Given the description of an element on the screen output the (x, y) to click on. 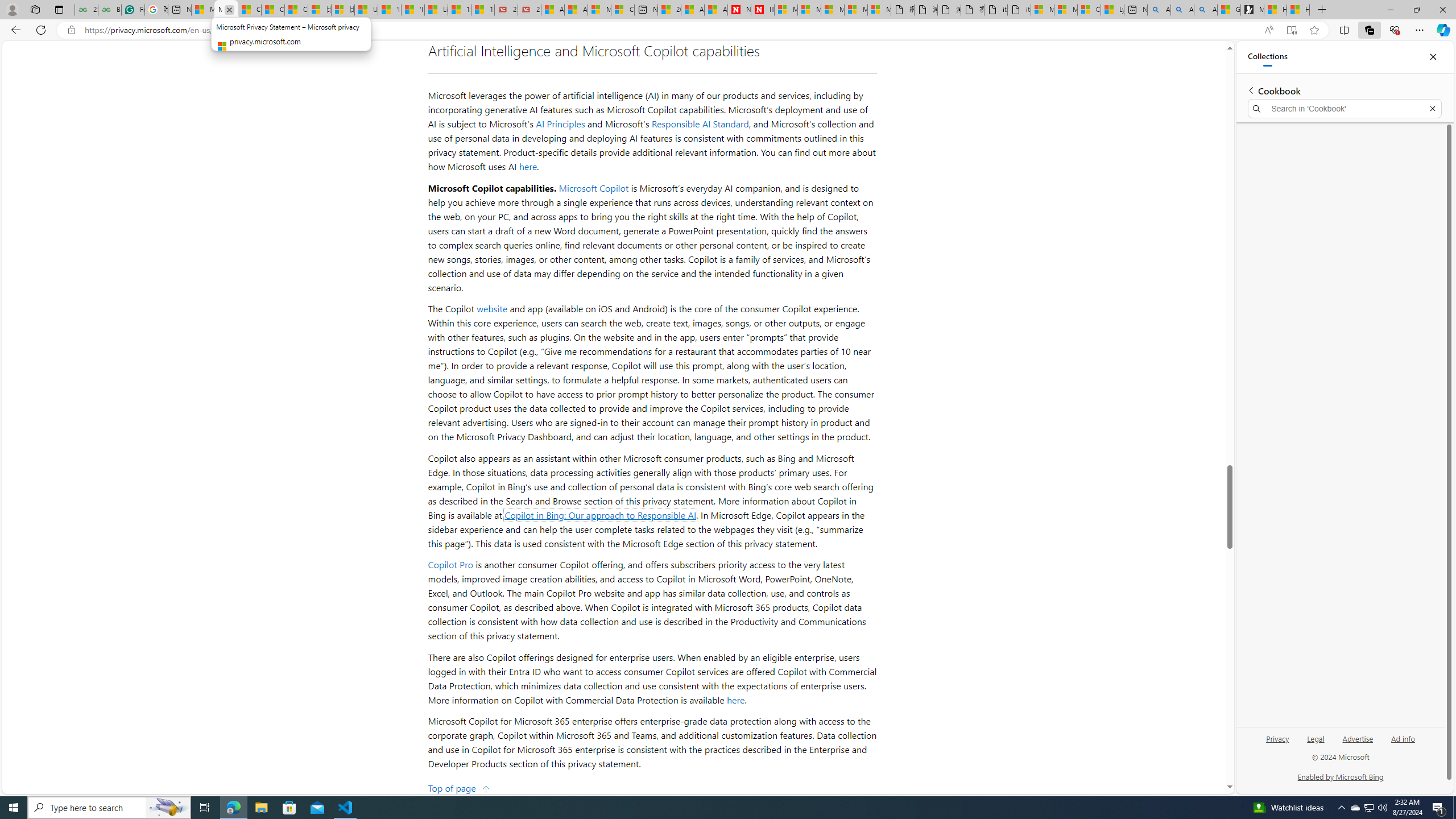
Responsible AI Standard (699, 123)
Microsoft Copilot (593, 187)
Newsweek - News, Analysis, Politics, Business, Technology (738, 9)
